Given the description of an element on the screen output the (x, y) to click on. 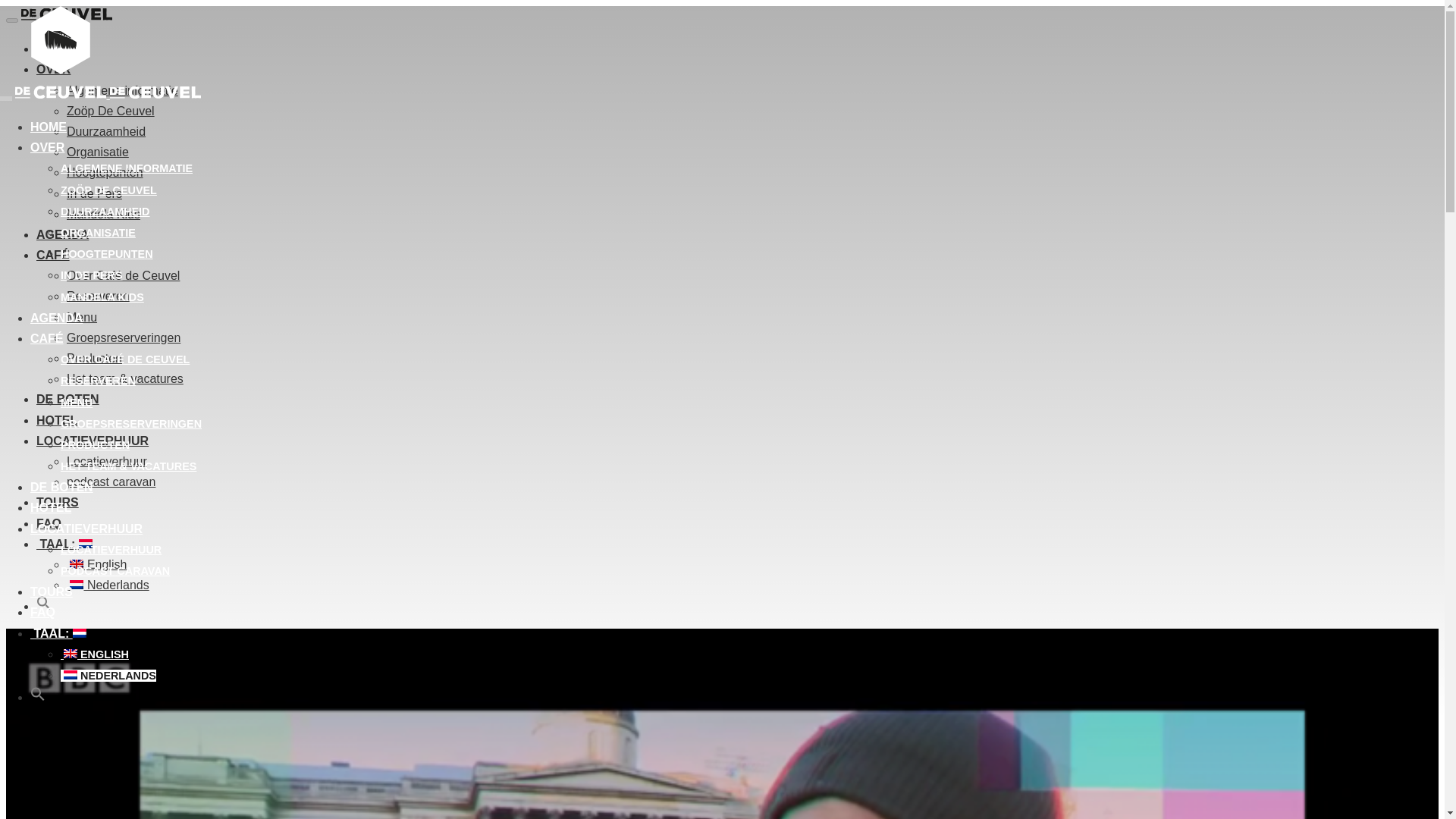
Hoogtepunten (106, 254)
HOOGTEPUNTEN (106, 254)
In de Pers (91, 275)
  ENGLISH (95, 654)
LOCATIEVERHUUR (86, 528)
Duurzaamheid (105, 211)
Menu (77, 402)
Algemene informatie (126, 168)
ALGEMENE INFORMATIE (126, 168)
Hoogtepunten (104, 172)
FAQ (42, 612)
DUURZAAMHEID (105, 211)
Toggle navigation (5, 98)
MANDELA KIDS (102, 297)
  NEDERLANDS (108, 675)
